Given the description of an element on the screen output the (x, y) to click on. 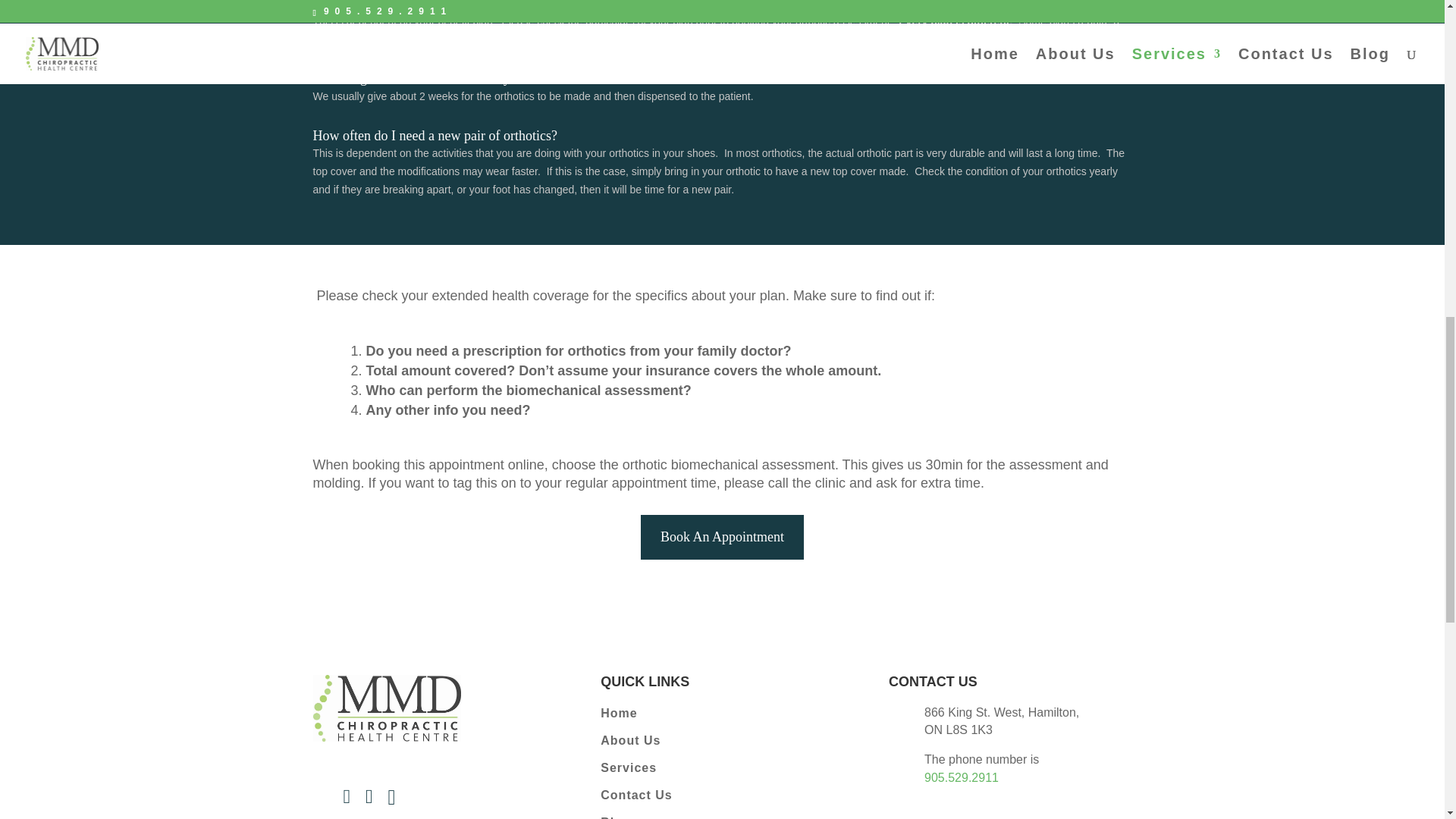
Contact Us (721, 798)
905.529.2911 (961, 777)
Home (721, 716)
Services (721, 770)
Book An Appointment (721, 537)
About Us (721, 743)
